Given the description of an element on the screen output the (x, y) to click on. 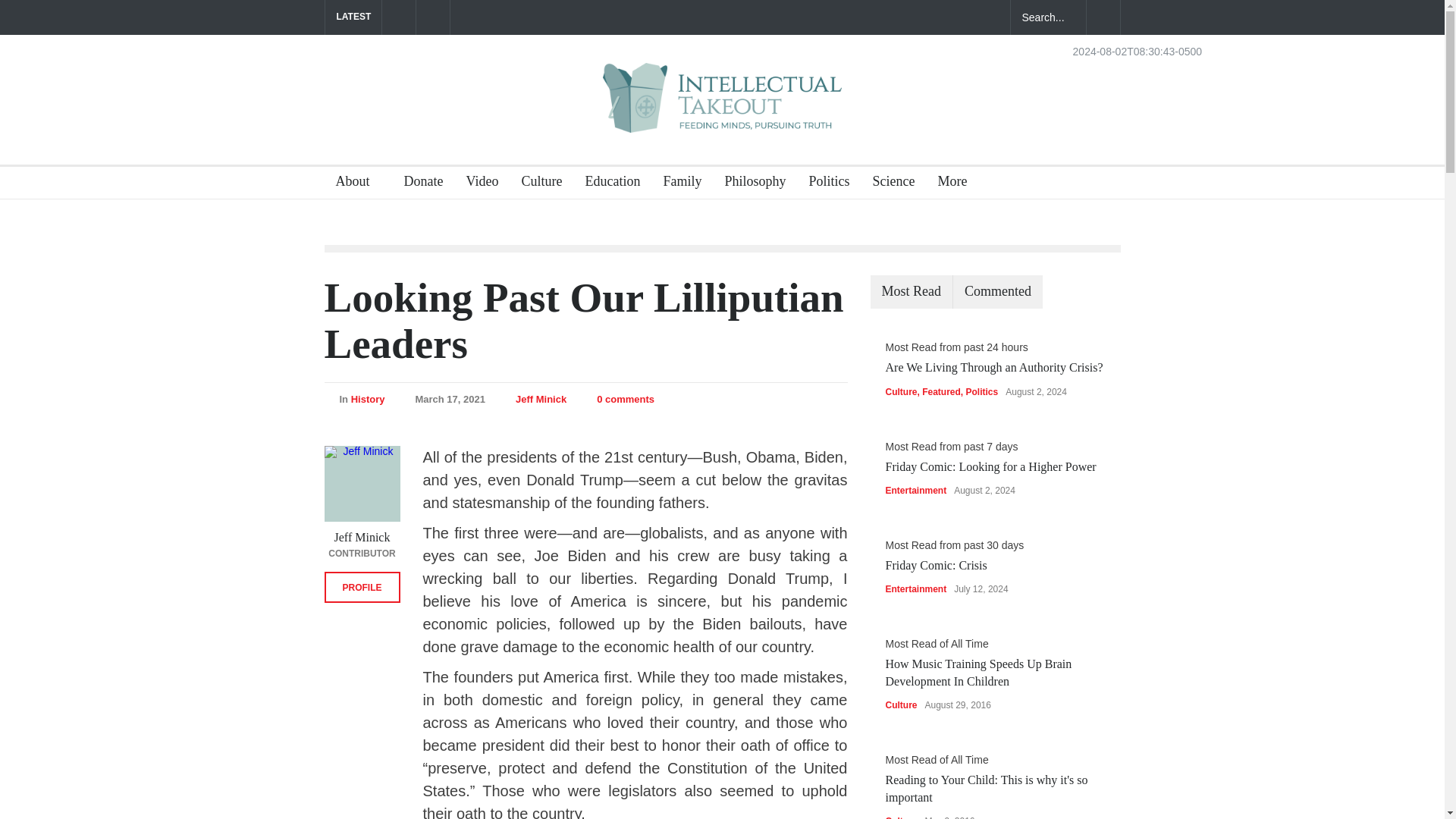
Education (606, 183)
0 comments (624, 398)
Search... (1048, 17)
Philosophy (749, 183)
Donate (418, 183)
Culture (535, 183)
Politics (822, 183)
More (958, 183)
